Given the description of an element on the screen output the (x, y) to click on. 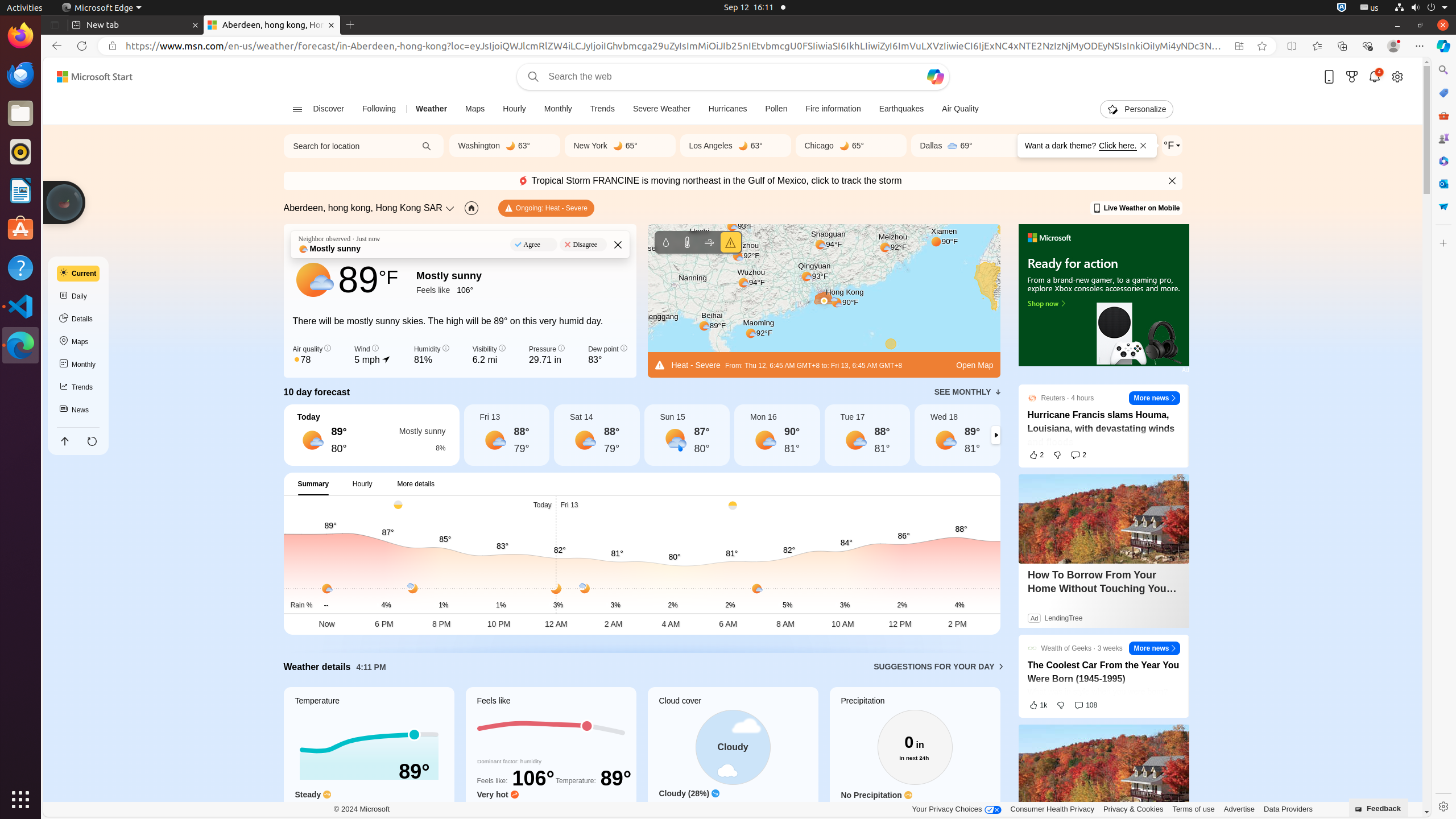
Severe Weather Element type: link (661, 108)
Search for location Element type: combo-box (347, 145)
Hide Element type: push-button (1172, 180)
Set as primary location Element type: push-button (471, 207)
Open Map Element type: link (974, 364)
